Given the description of an element on the screen output the (x, y) to click on. 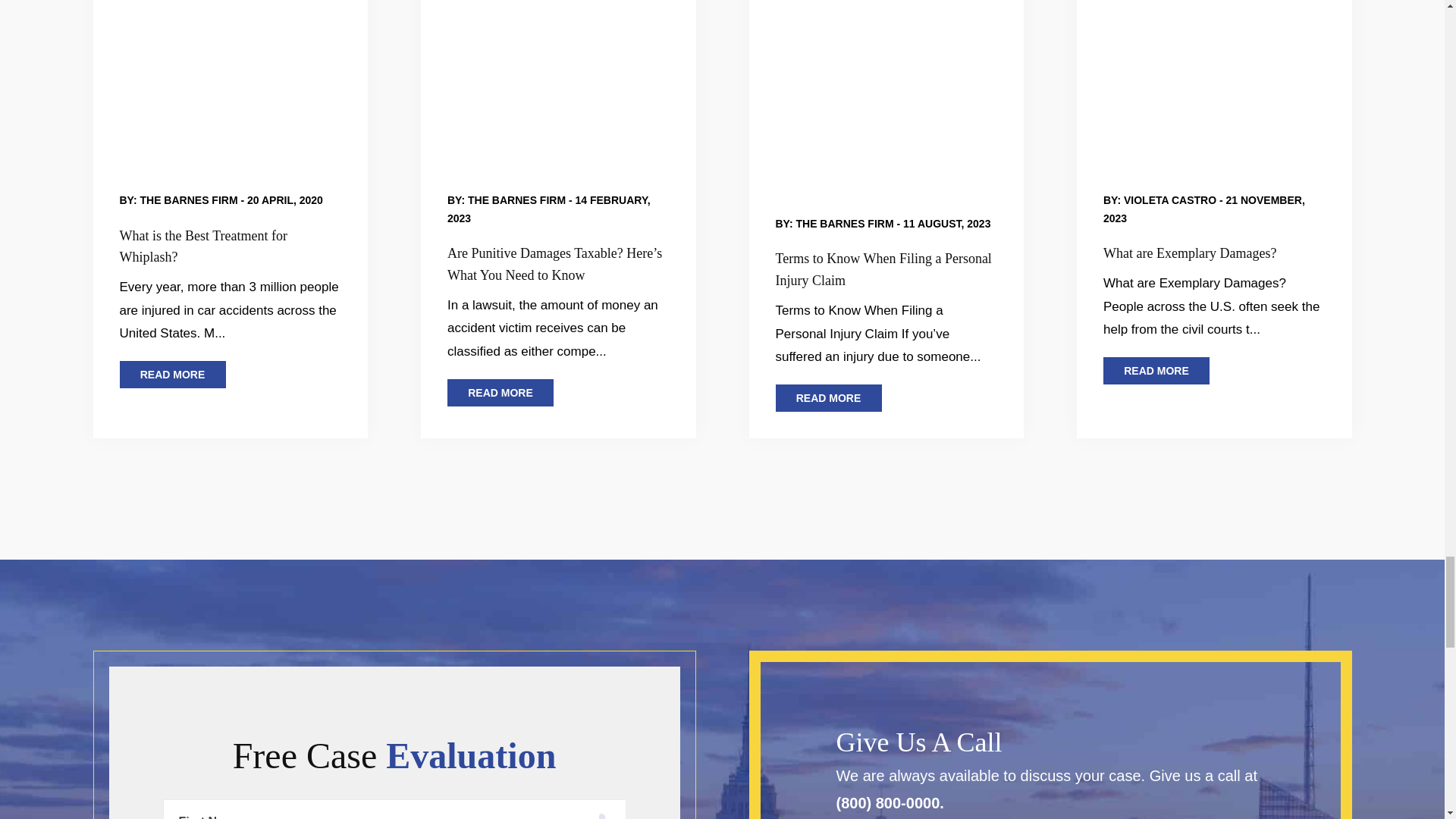
What is the Best Treatment for Whiplash? (230, 72)
Terms to Know When Filing a Personal Injury Claim (887, 83)
What are Exemplary Damages? (1214, 72)
